Given the description of an element on the screen output the (x, y) to click on. 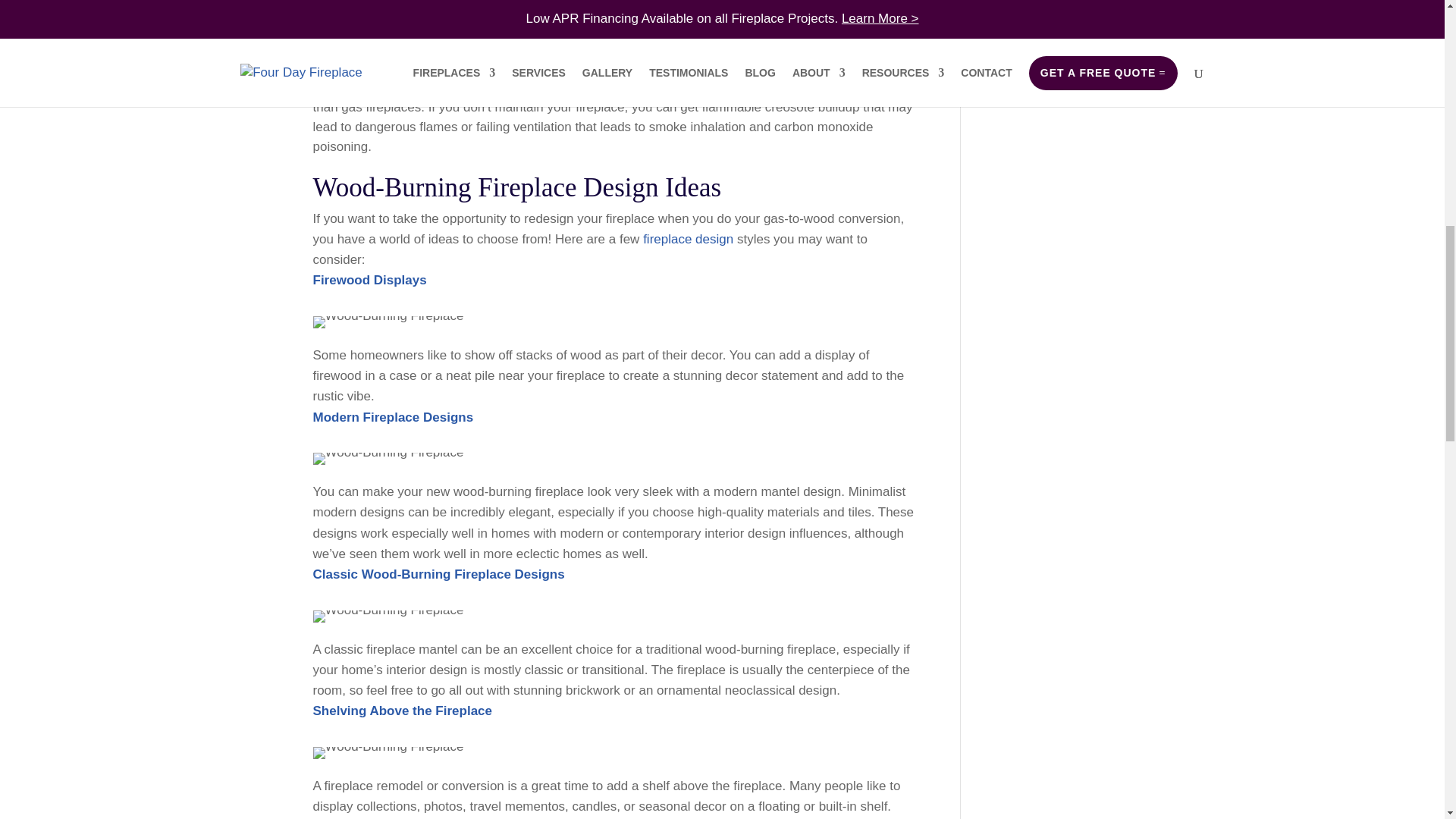
Wood-Burning Fireplace (388, 752)
Wood-Burning Fireplace (388, 616)
Wood-Burning Fireplace (388, 322)
Wood-Burning Fireplace (388, 458)
